Given the description of an element on the screen output the (x, y) to click on. 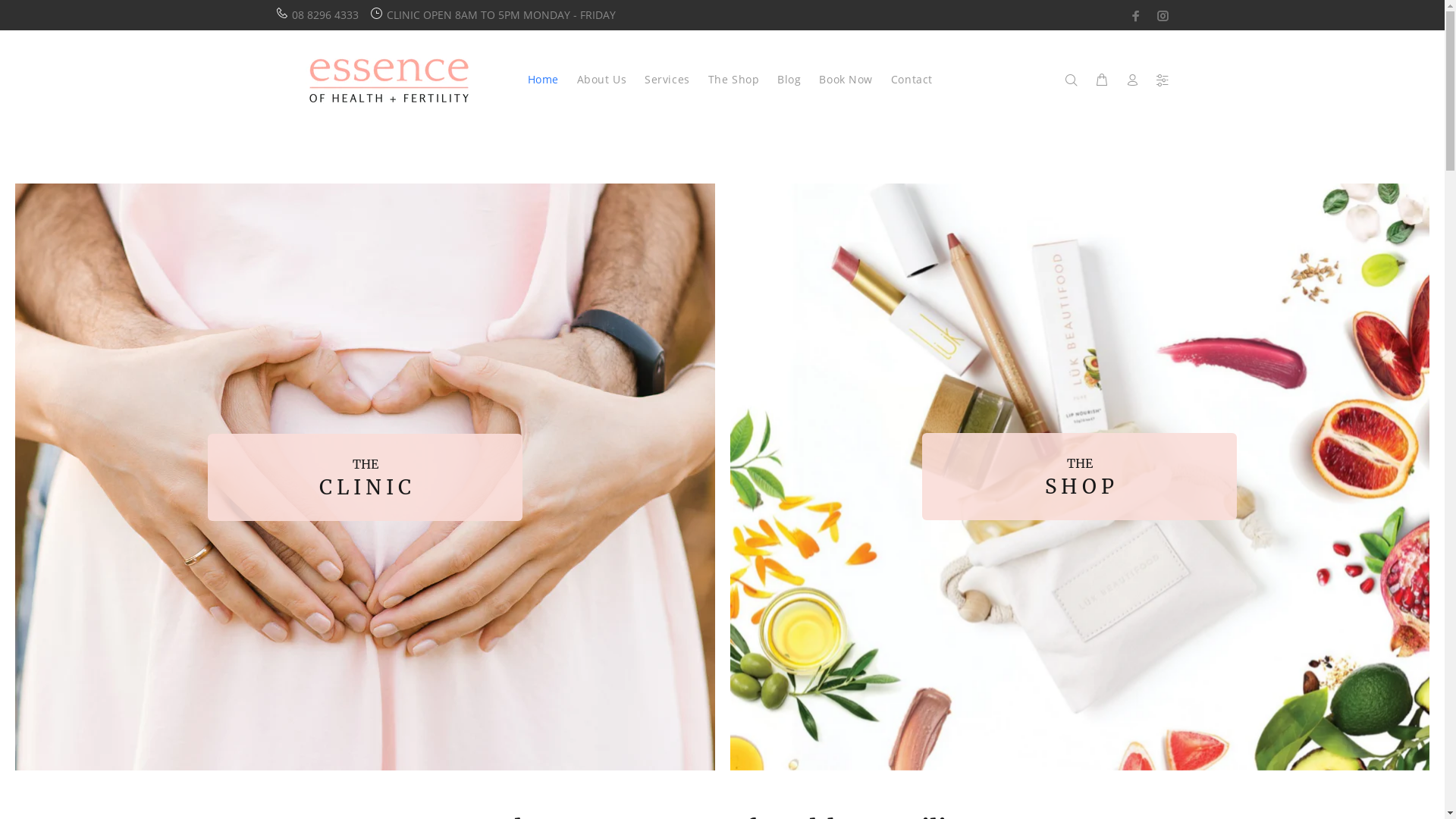
Blog Element type: text (788, 79)
Book Now Element type: text (845, 79)
Contact Element type: text (906, 79)
THE
C L I N I C Element type: text (365, 476)
Services Element type: text (666, 79)
The Shop Element type: text (733, 79)
Home Element type: text (542, 79)
THE
S H O P Element type: text (1079, 476)
About Us Element type: text (601, 79)
